Given the description of an element on the screen output the (x, y) to click on. 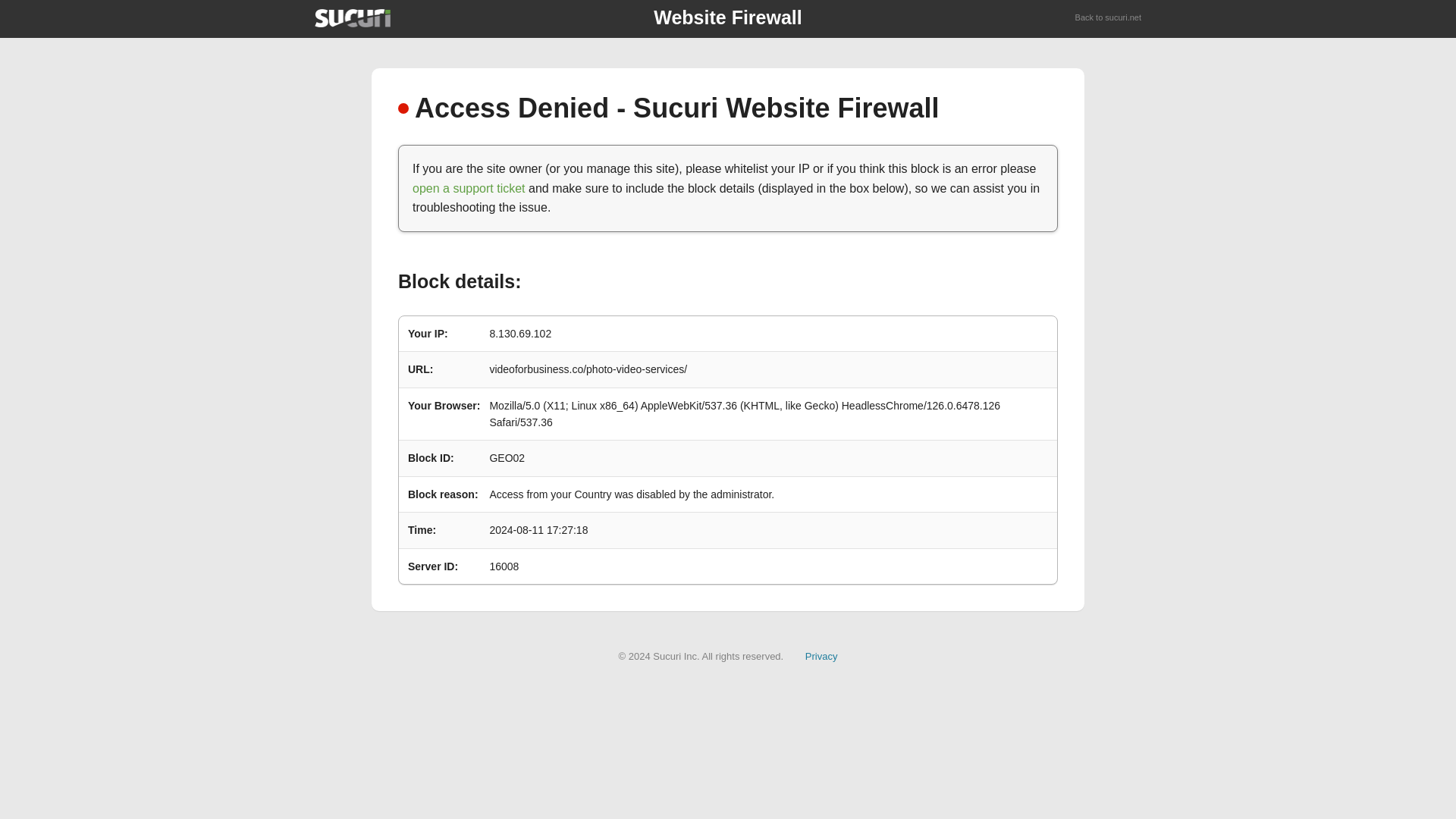
Back to sucuri.net (1108, 18)
Privacy (821, 655)
open a support ticket (468, 187)
